Given the description of an element on the screen output the (x, y) to click on. 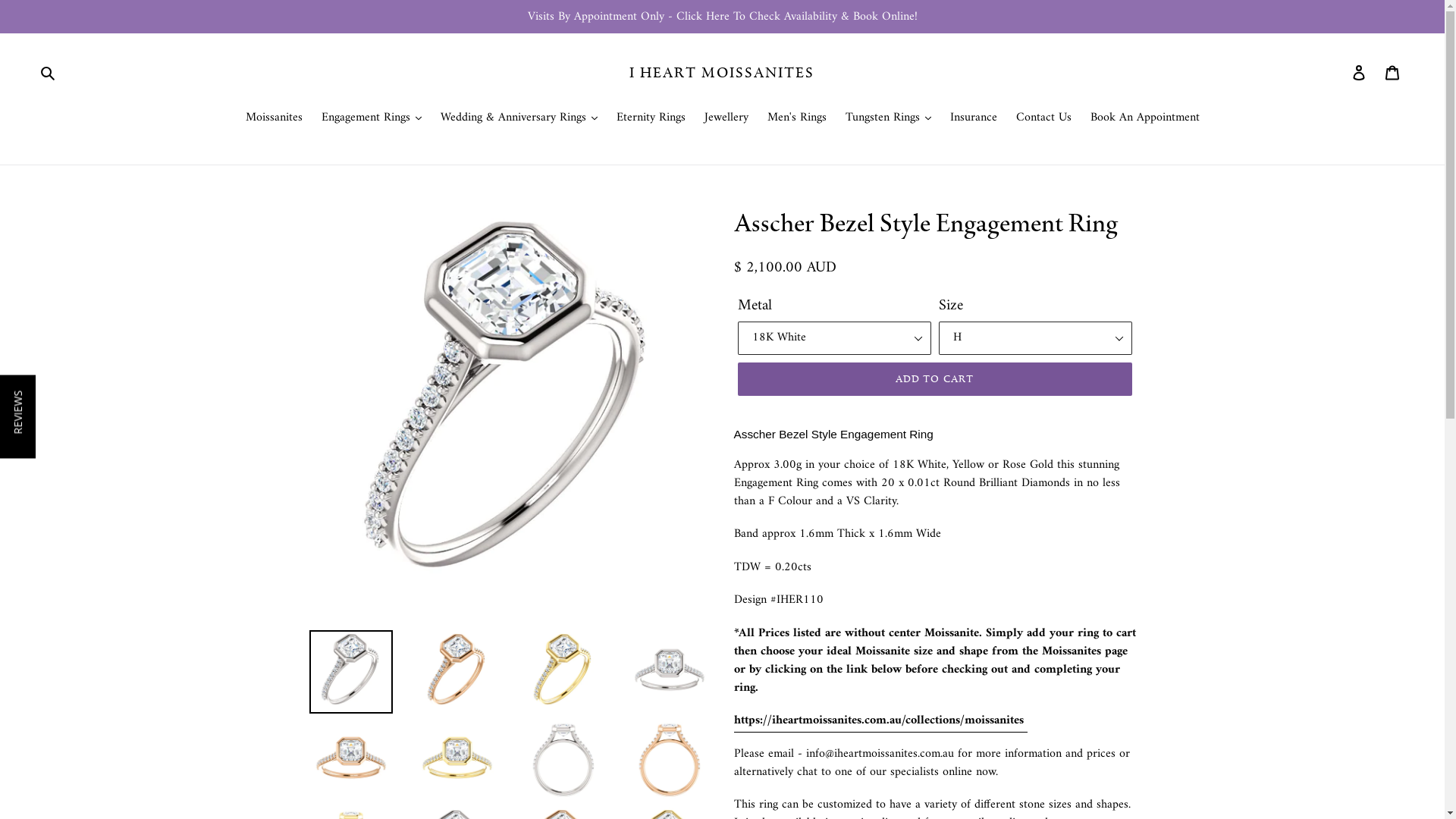
Jewellery Element type: text (725, 118)
https://iheartmoissanites.com.au/collections/moissanites  Element type: text (880, 720)
Eternity Rings Element type: text (650, 118)
Moissanites Element type: text (274, 118)
Cart Element type: text (1393, 72)
Log in Element type: text (1360, 72)
Submit Element type: text (47, 72)
Book An Appointment Element type: text (1144, 118)
I HEART MOISSANITES Element type: text (721, 72)
Men's Rings Element type: text (796, 118)
ADD TO CART Element type: text (934, 378)
Insurance Element type: text (972, 118)
Contact Us Element type: text (1043, 118)
